Given the description of an element on the screen output the (x, y) to click on. 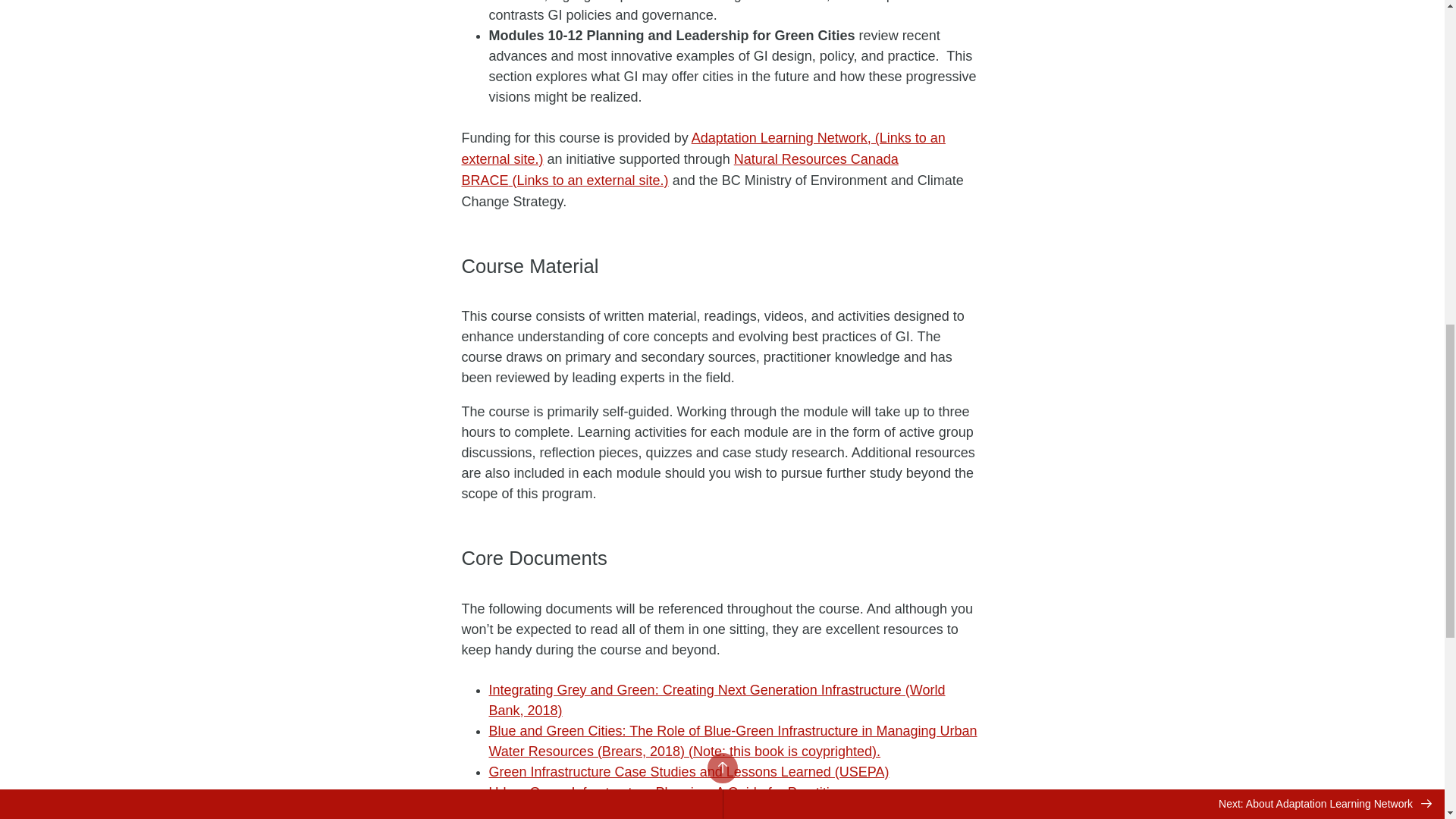
EPA Green Infrastructure Case Studies.pdf (687, 771)
2019 - Vancouver Rain City Strategy.pdf (603, 812)
